Given the description of an element on the screen output the (x, y) to click on. 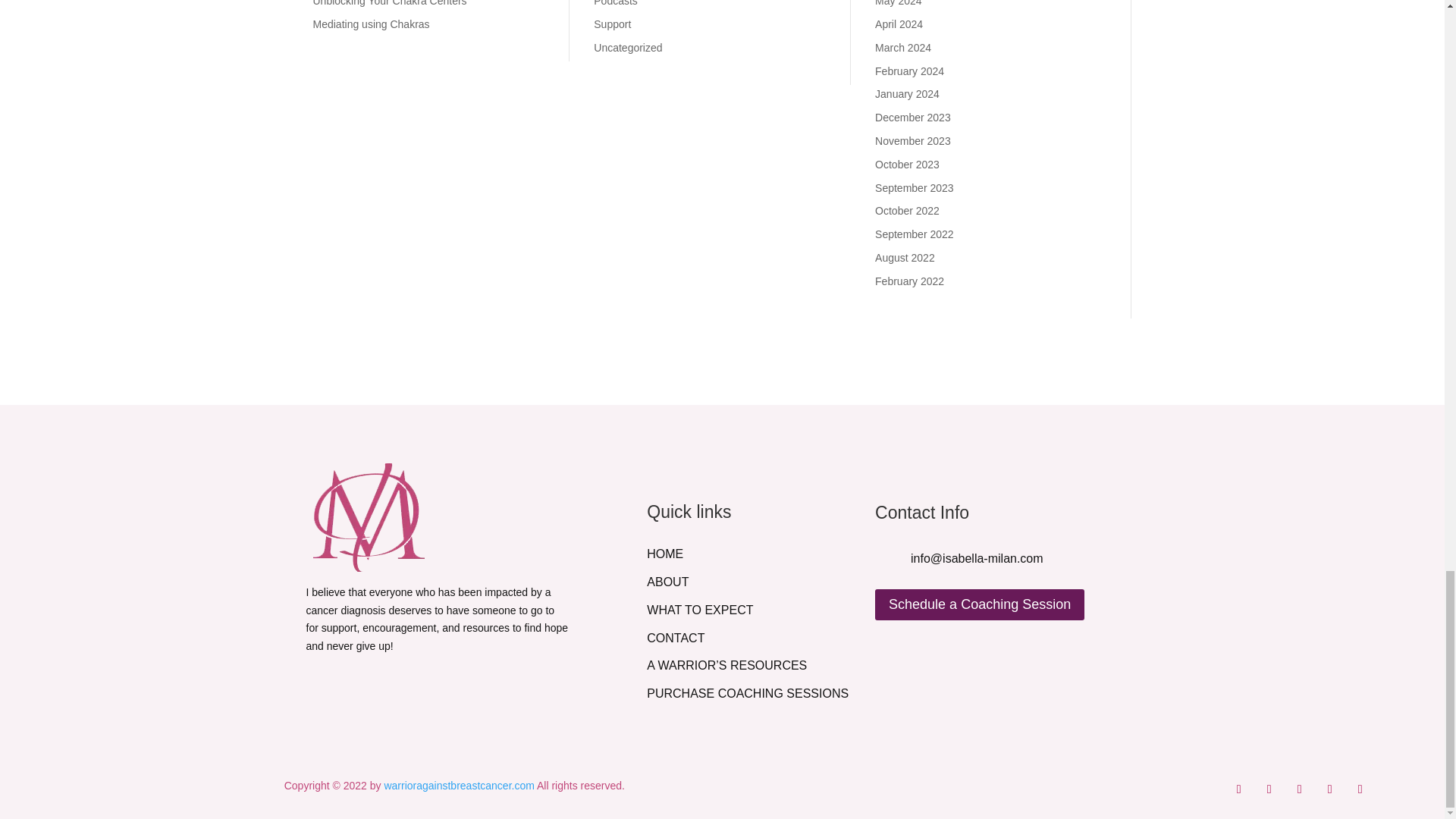
warriora (368, 517)
Follow on tumblr (1360, 789)
Follow on Facebook (1238, 789)
Follow on Instagram (1269, 789)
Follow on X (1299, 789)
Follow on LinkedIn (1329, 789)
